Given the description of an element on the screen output the (x, y) to click on. 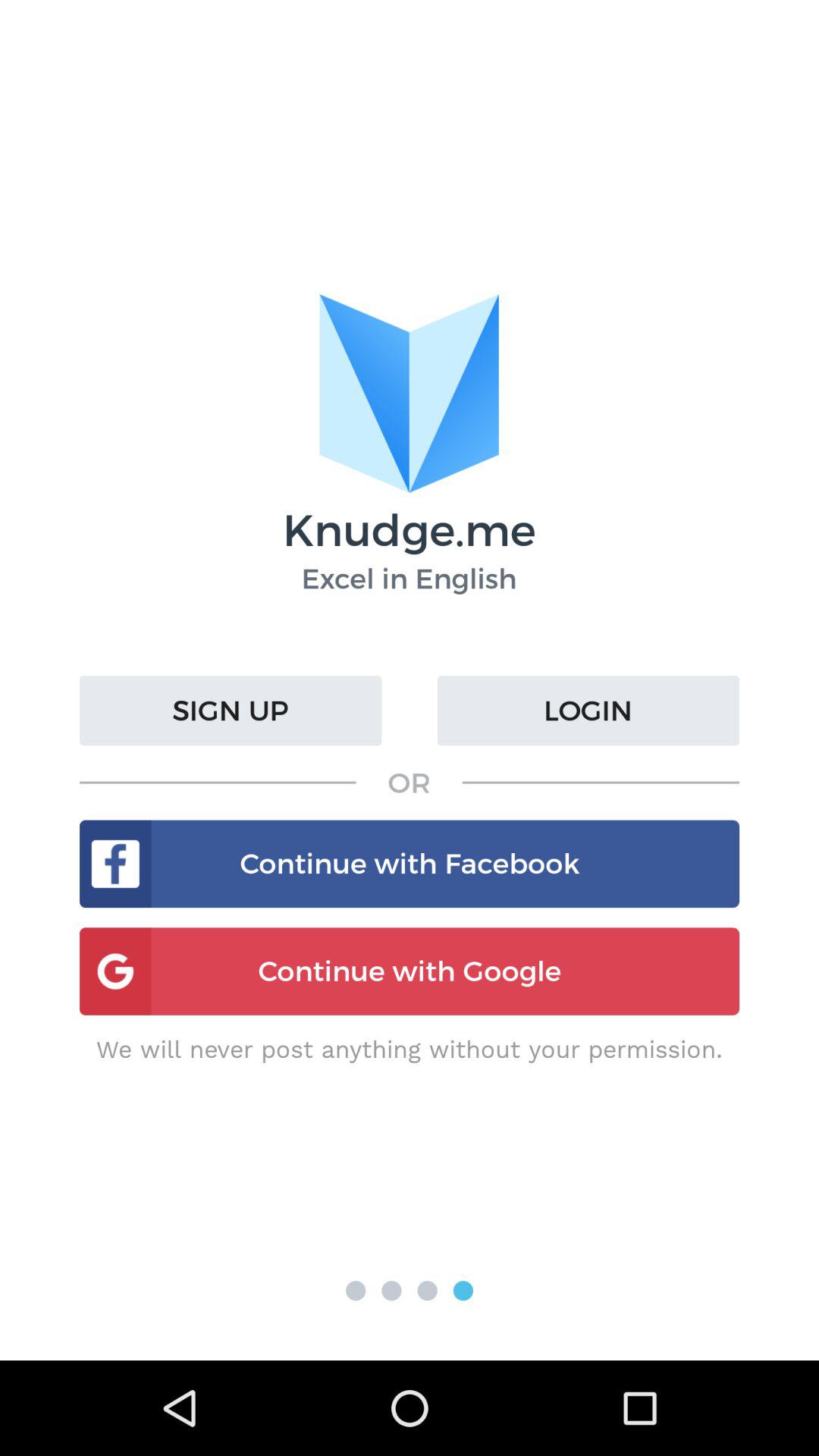
swipe until the login (588, 710)
